Given the description of an element on the screen output the (x, y) to click on. 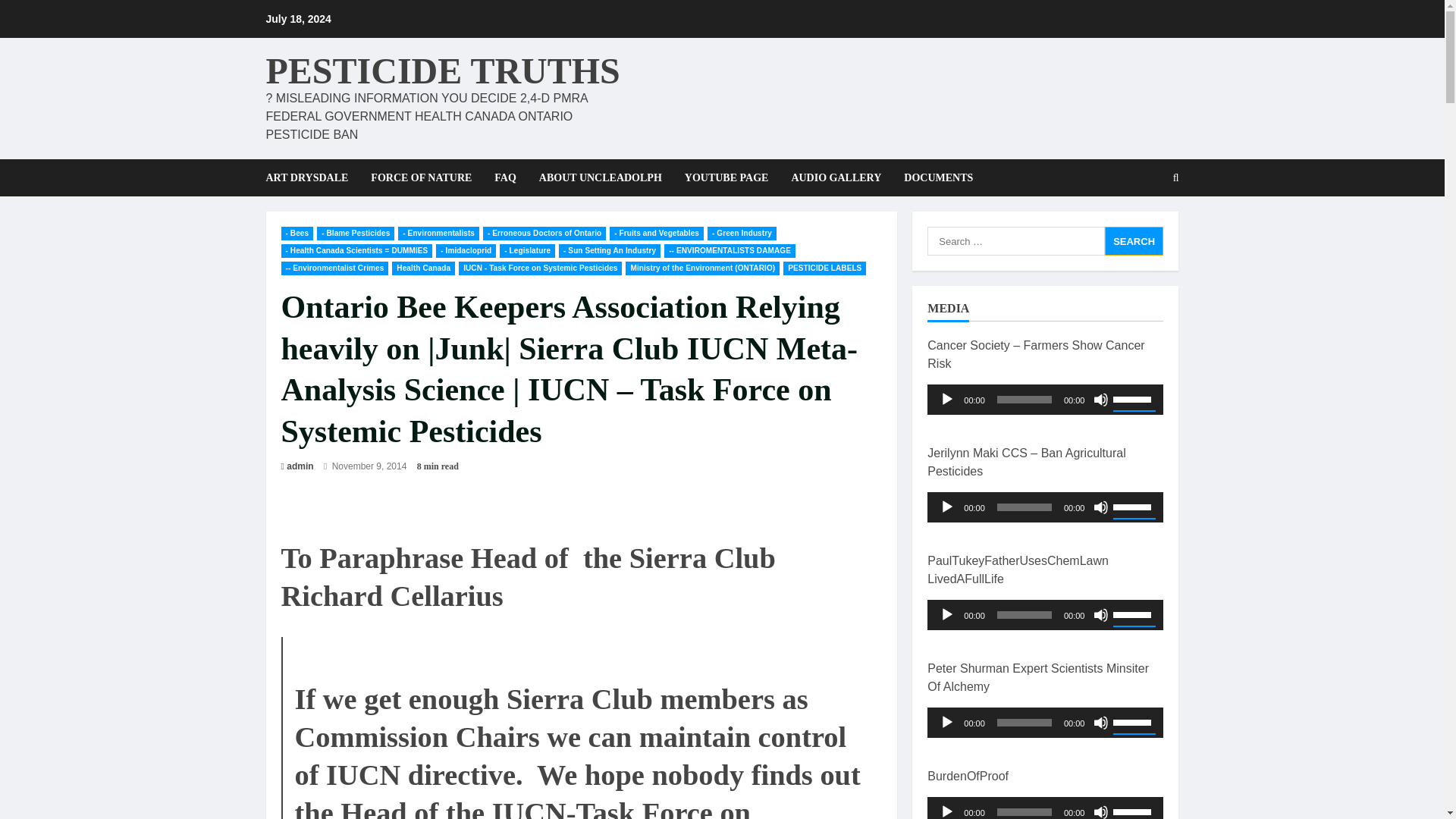
IUCN - Task Force on Systemic Pesticides (539, 268)
-- ENVIROMENTALISTS DAMAGE (728, 250)
Search (1134, 240)
- Environmentalists (438, 233)
- Blame Pesticides (355, 233)
-- Environmentalist Crimes (334, 268)
Search (1134, 240)
ART DRYSDALE (311, 177)
- Sun Setting An Industry (610, 250)
PESTICIDE LABELS (824, 268)
- Legislature (526, 250)
admin (299, 466)
PESTICIDE TRUTHS (442, 70)
AUDIO GALLERY (835, 177)
ABOUT UNCLEADOLPH (599, 177)
